Given the description of an element on the screen output the (x, y) to click on. 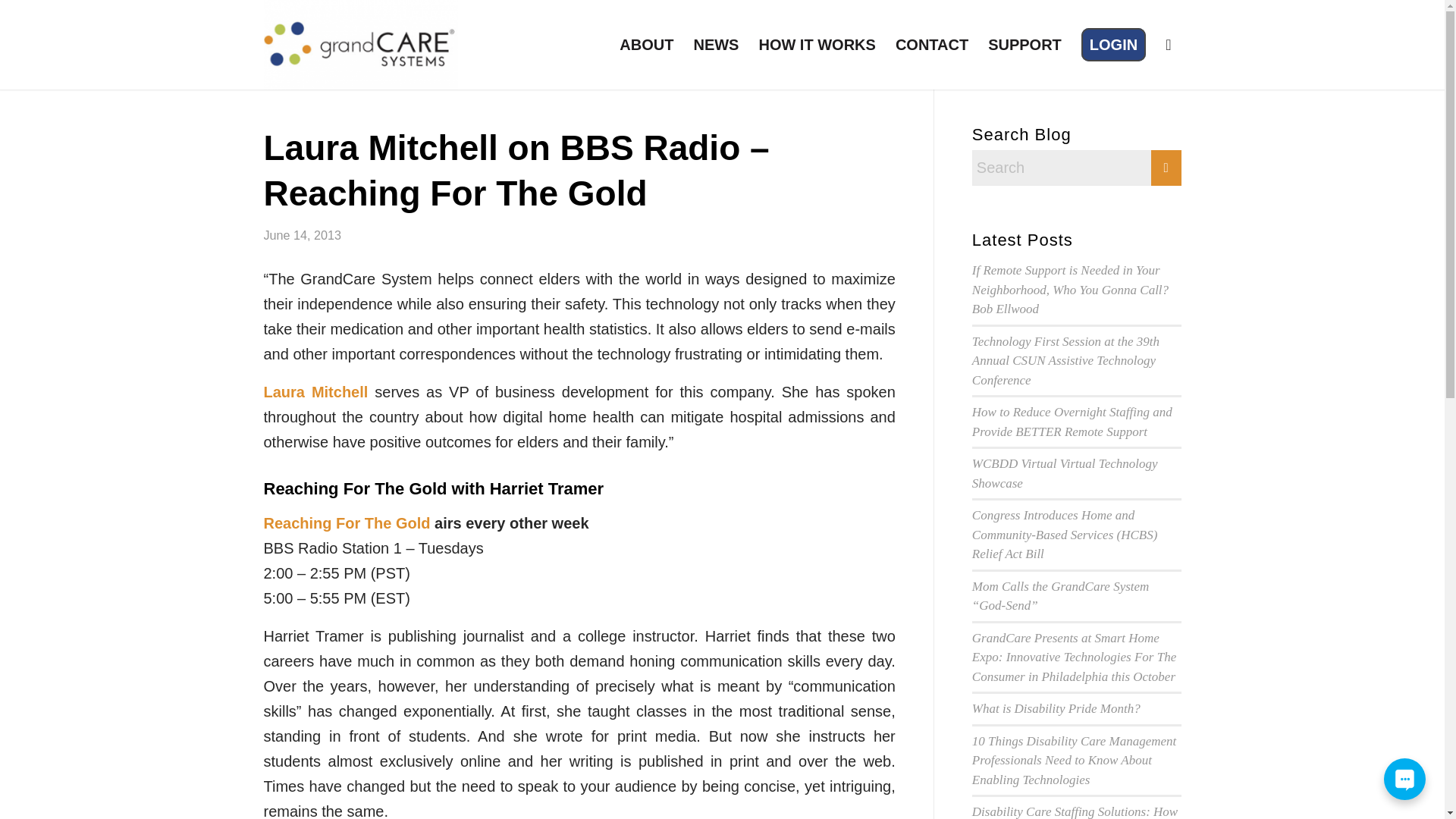
SUPPORT (1024, 44)
Laura Mitchell (315, 392)
CONTACT (931, 44)
LOGIN (1113, 44)
HOW IT WORKS (816, 44)
Reaching For The Gold (346, 523)
